Given the description of an element on the screen output the (x, y) to click on. 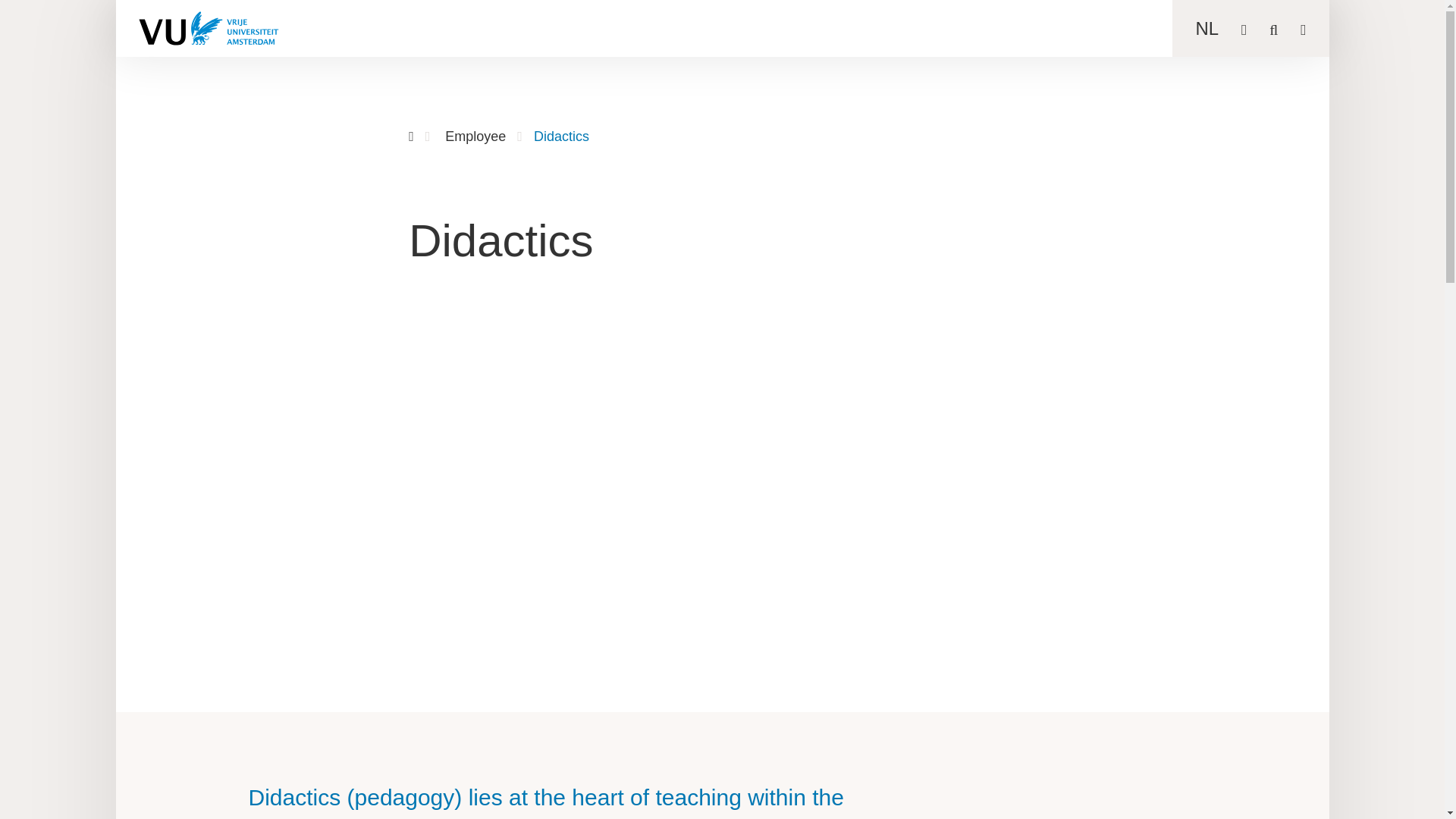
NL (1206, 28)
Employee (475, 136)
